Given the description of an element on the screen output the (x, y) to click on. 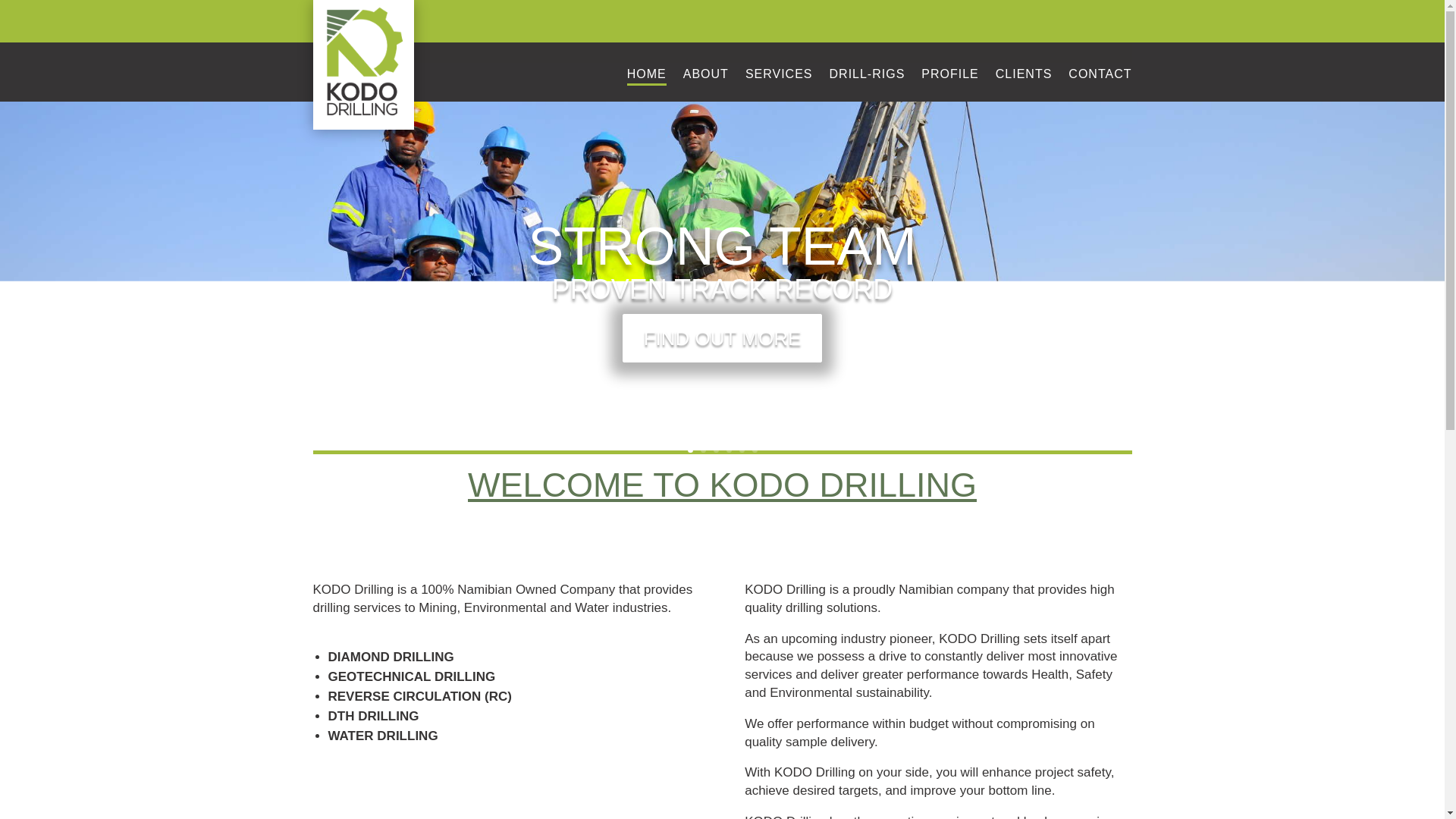
4 (729, 449)
1 (690, 449)
SERVICES (778, 76)
5 (741, 449)
ABOUT (705, 76)
DRILL-RIGS (867, 76)
PROFILE (949, 76)
2 (703, 449)
HOME (646, 76)
CONTACT (1099, 76)
CLIENTS (1023, 76)
